Given the description of an element on the screen output the (x, y) to click on. 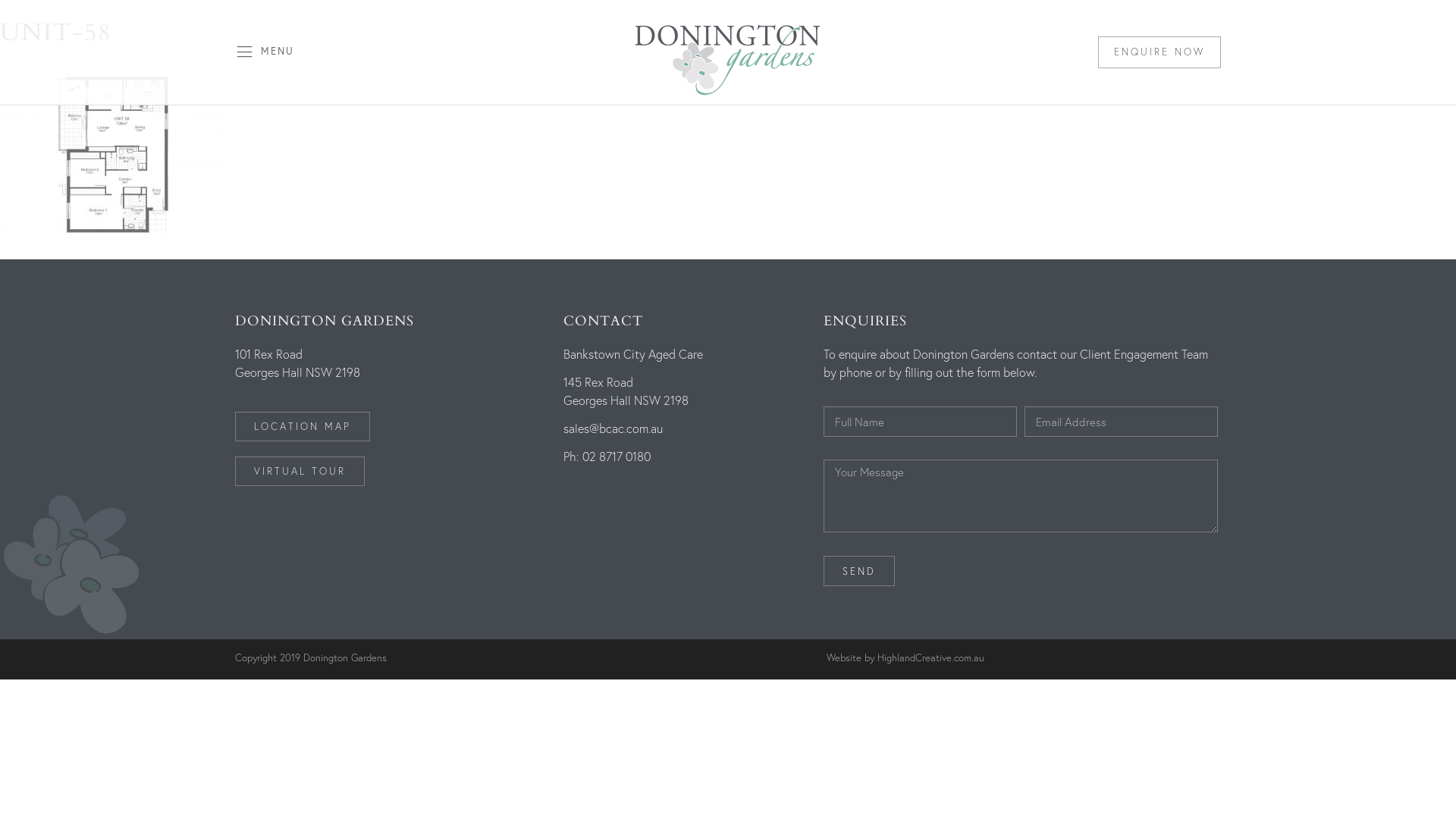
SEND Element type: text (858, 570)
VIRTUAL TOUR Element type: text (299, 471)
ENQUIRE NOW Element type: text (1159, 52)
LOCATION MAP Element type: text (302, 426)
MENU Element type: text (277, 50)
